Given the description of an element on the screen output the (x, y) to click on. 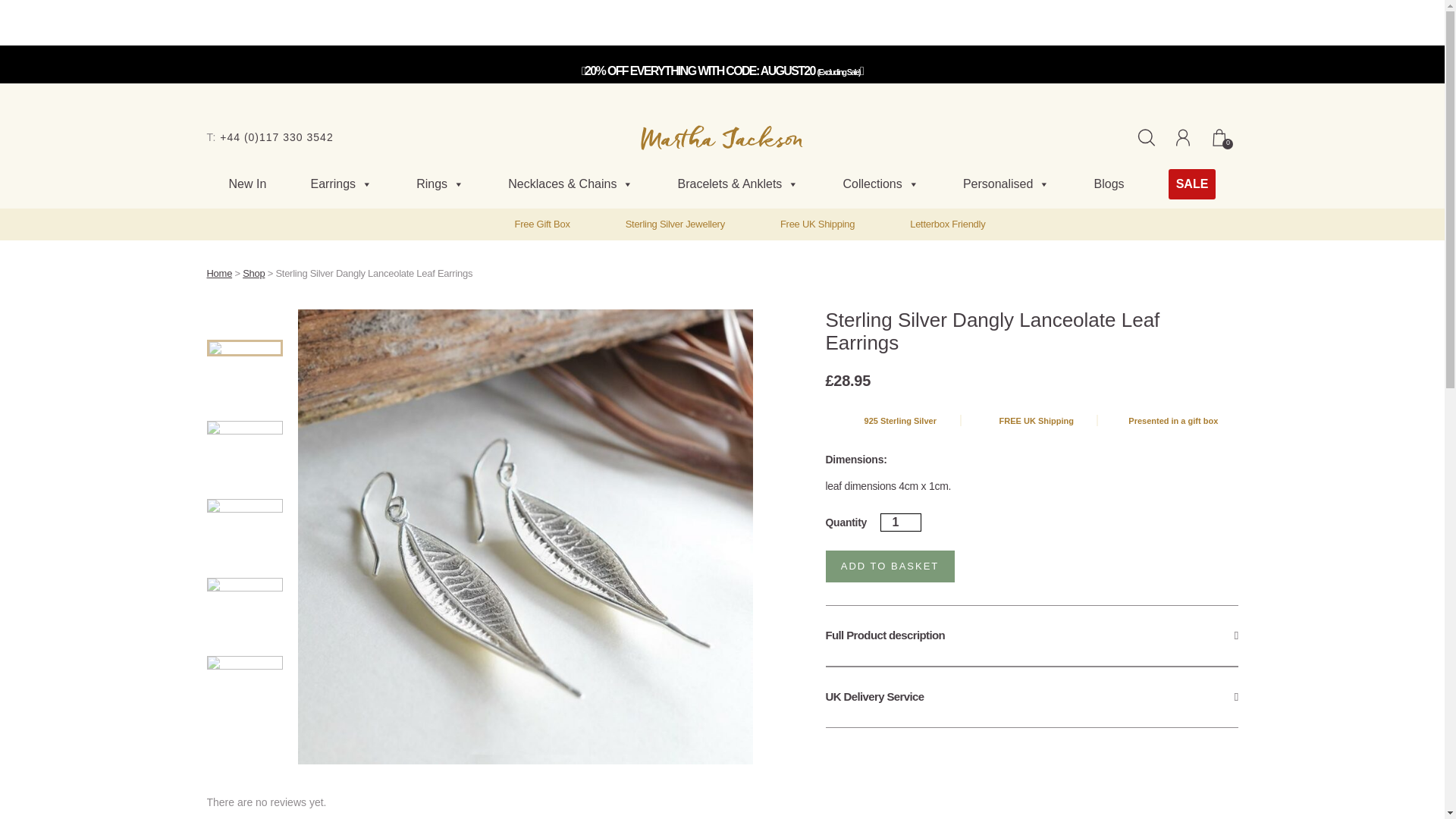
0 (1219, 136)
Rings (440, 183)
New In (247, 183)
Collections (880, 183)
Basket (1219, 136)
Earrings (341, 183)
My Account (1182, 136)
1 (900, 522)
